Given the description of an element on the screen output the (x, y) to click on. 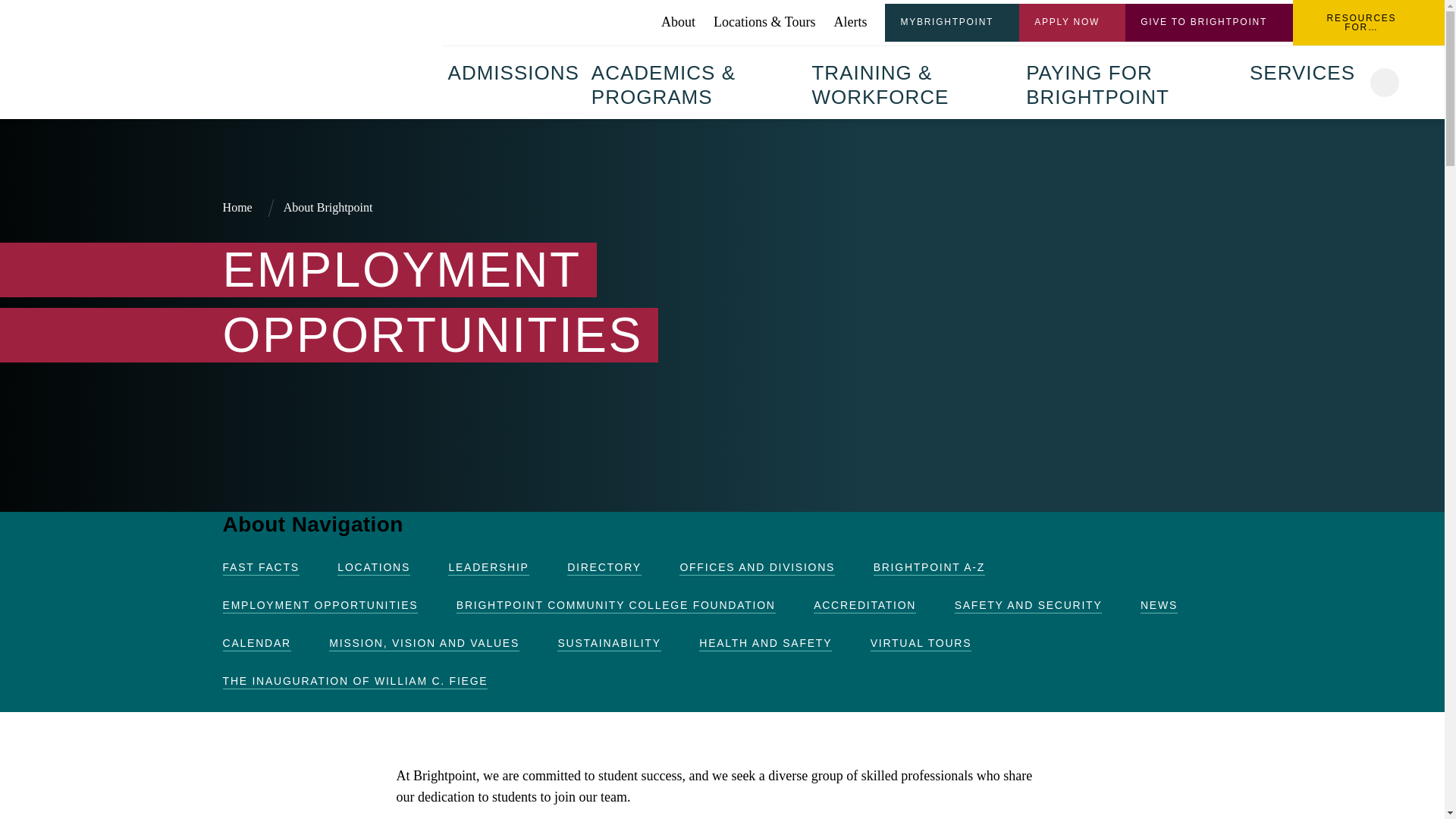
APPLY NOW (1072, 22)
ADMISSIONS (513, 70)
GIVE TO BRIGHTPOINT (1208, 22)
MYBRIGHTPOINT (952, 22)
Alerts (850, 22)
About (678, 22)
Brightpoint (324, 57)
